Given the description of an element on the screen output the (x, y) to click on. 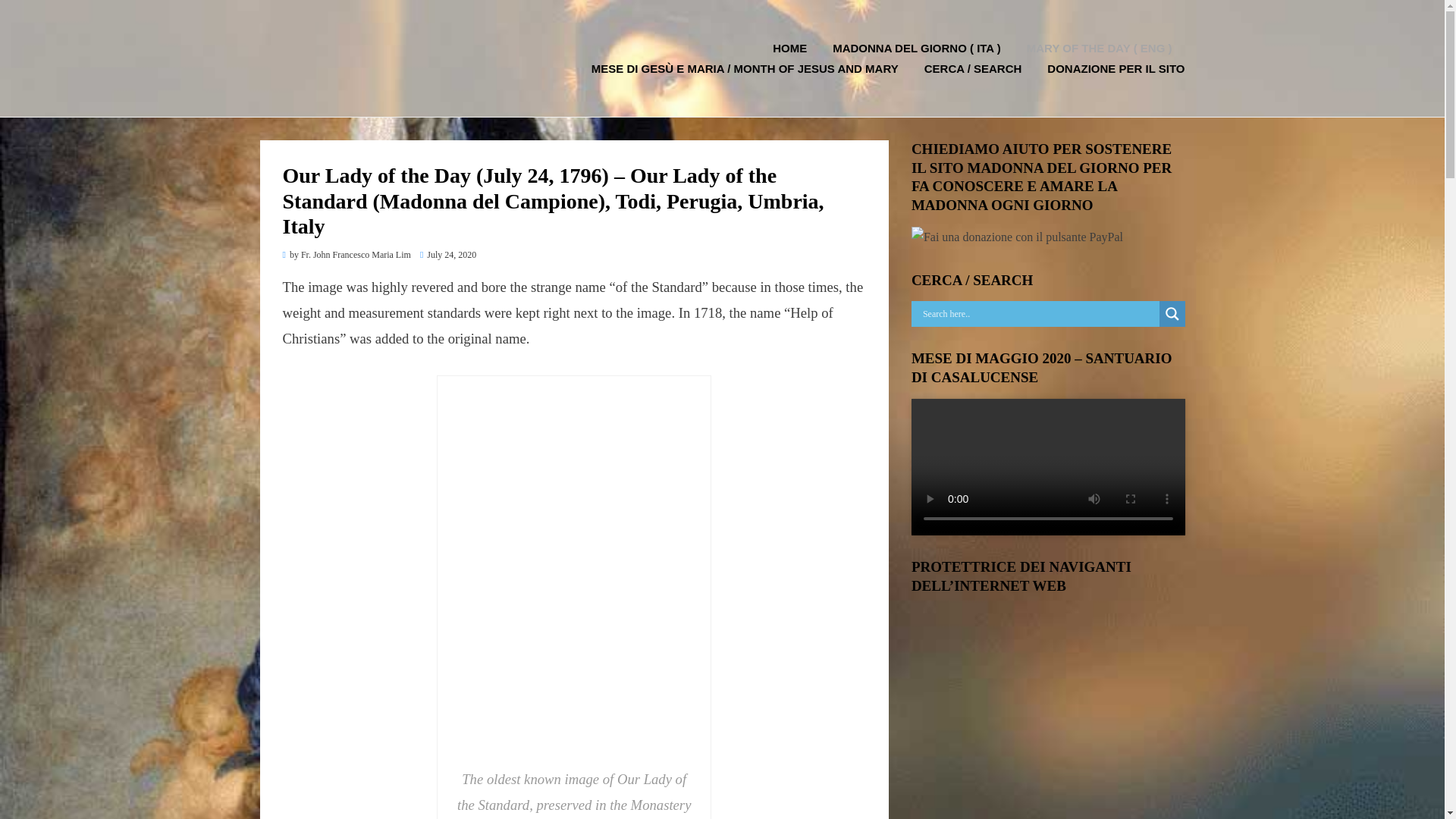
DONAZIONE PER IL SITO (1109, 68)
Fr. John Francesco Maria Lim (355, 254)
HOME (789, 47)
July 24, 2020 (448, 254)
PayPal - The safer, easier way to pay online! (1016, 237)
